Given the description of an element on the screen output the (x, y) to click on. 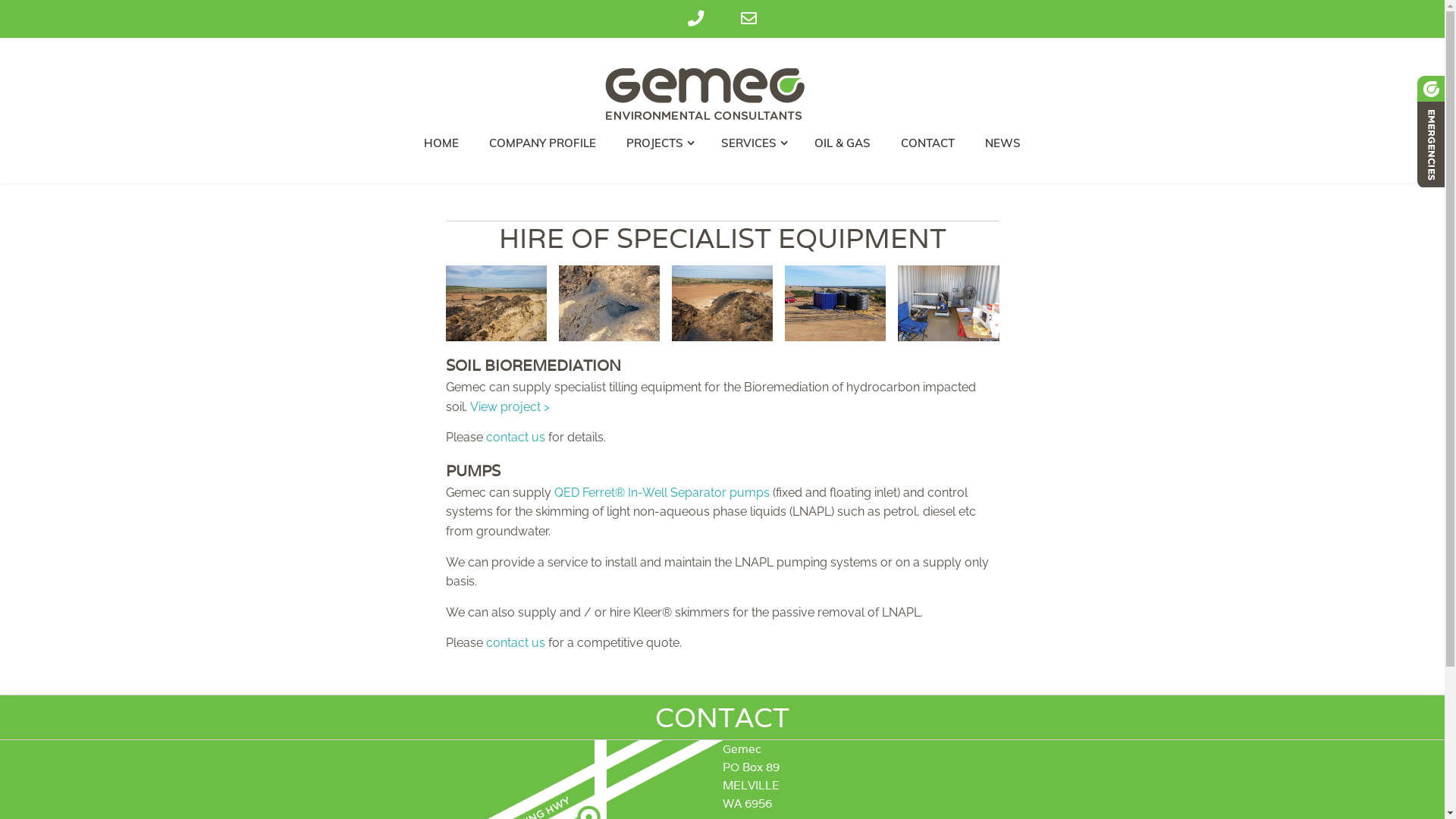
Phone Number for calling Element type: text (694, 18)
HOME Element type: text (440, 143)
CONTACT Element type: text (927, 143)
contact us Element type: text (514, 436)
View project > Element type: text (509, 406)
Email Address Element type: text (748, 18)
NEWS Element type: text (1002, 143)
OIL & GAS Element type: text (842, 143)
Skip to content Element type: text (0, 37)
COMPANY PROFILE Element type: text (542, 143)
PROJECTS Element type: text (658, 143)
SERVICES Element type: text (752, 143)
contact us Element type: text (514, 642)
